Given the description of an element on the screen output the (x, y) to click on. 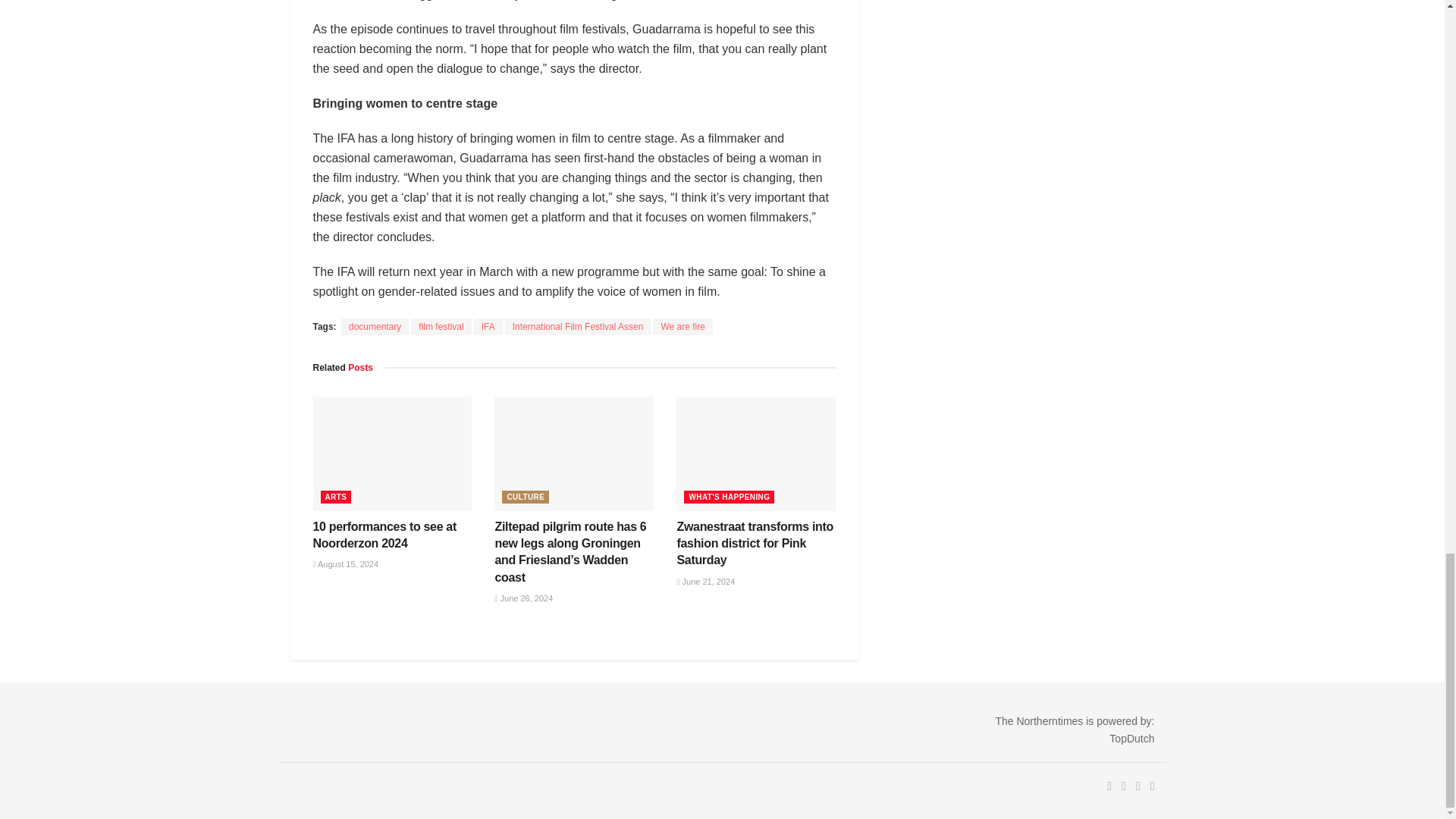
film festival (440, 326)
documentary (374, 326)
IFA (488, 326)
